Given the description of an element on the screen output the (x, y) to click on. 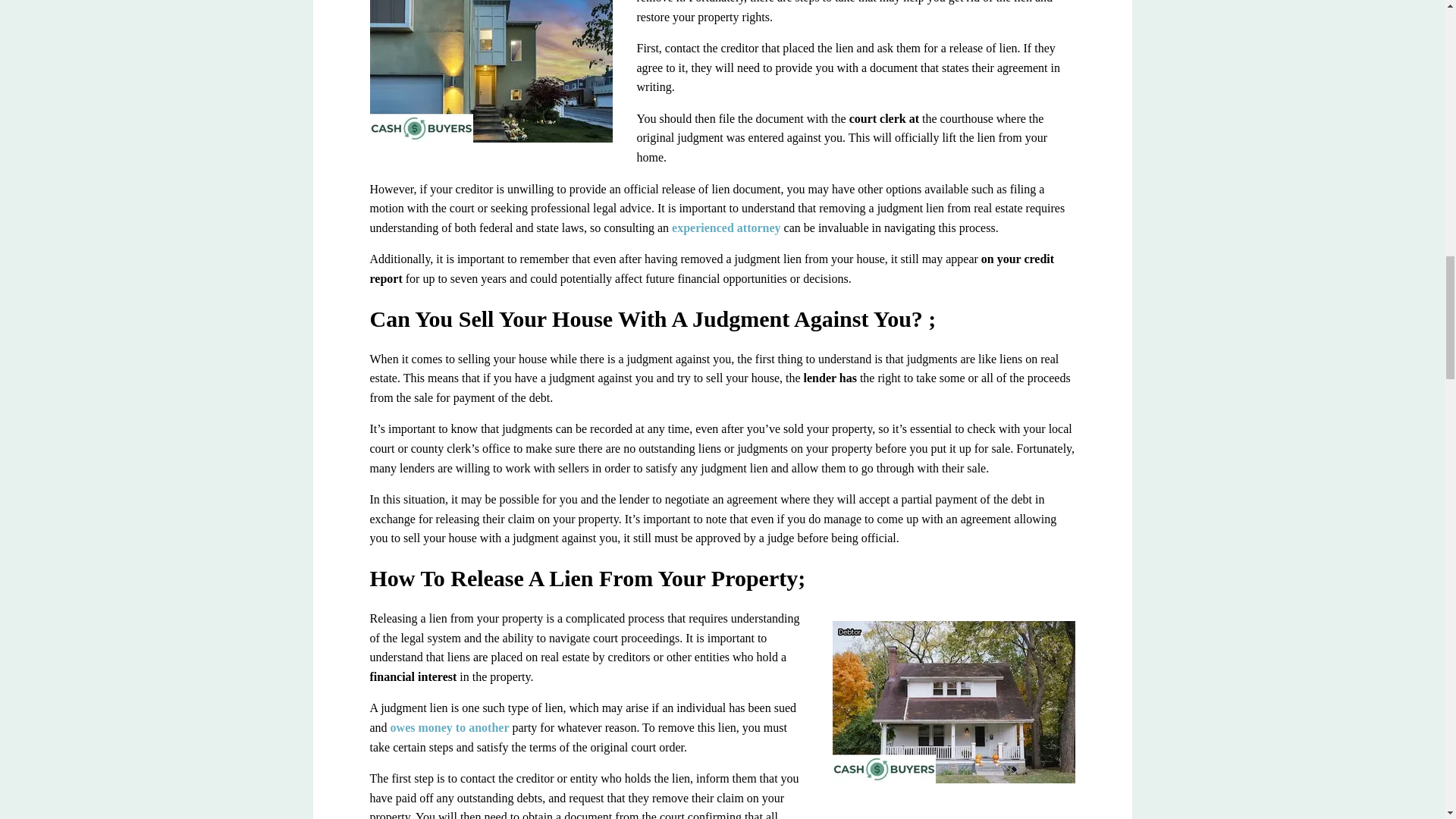
experienced attorney (725, 227)
owes money to another (449, 727)
